Given the description of an element on the screen output the (x, y) to click on. 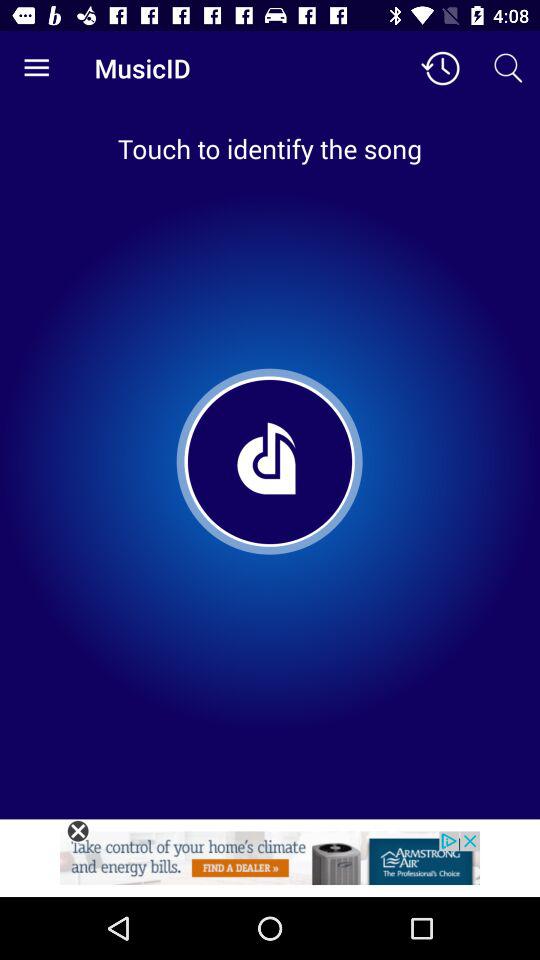
go to advertisement page (270, 864)
